Given the description of an element on the screen output the (x, y) to click on. 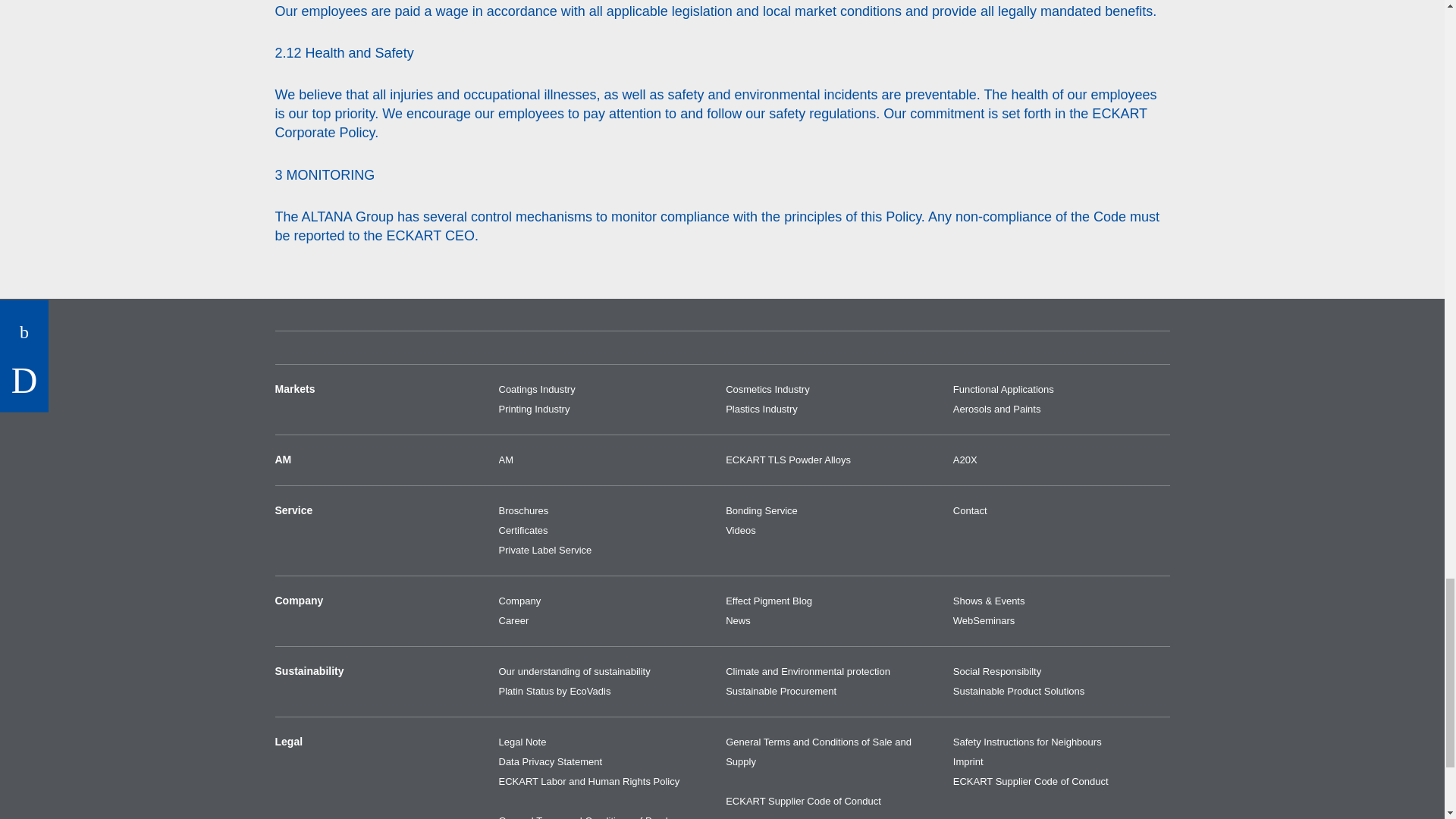
Aerosols and Paints (1061, 409)
Functional Applications (1061, 389)
AM (607, 460)
Coatings Industry (607, 389)
Videos (833, 530)
Bonding-Service (833, 510)
Printing Industry (607, 409)
AMspheres (833, 460)
Plastics (833, 409)
Cosmetics (833, 389)
